Given the description of an element on the screen output the (x, y) to click on. 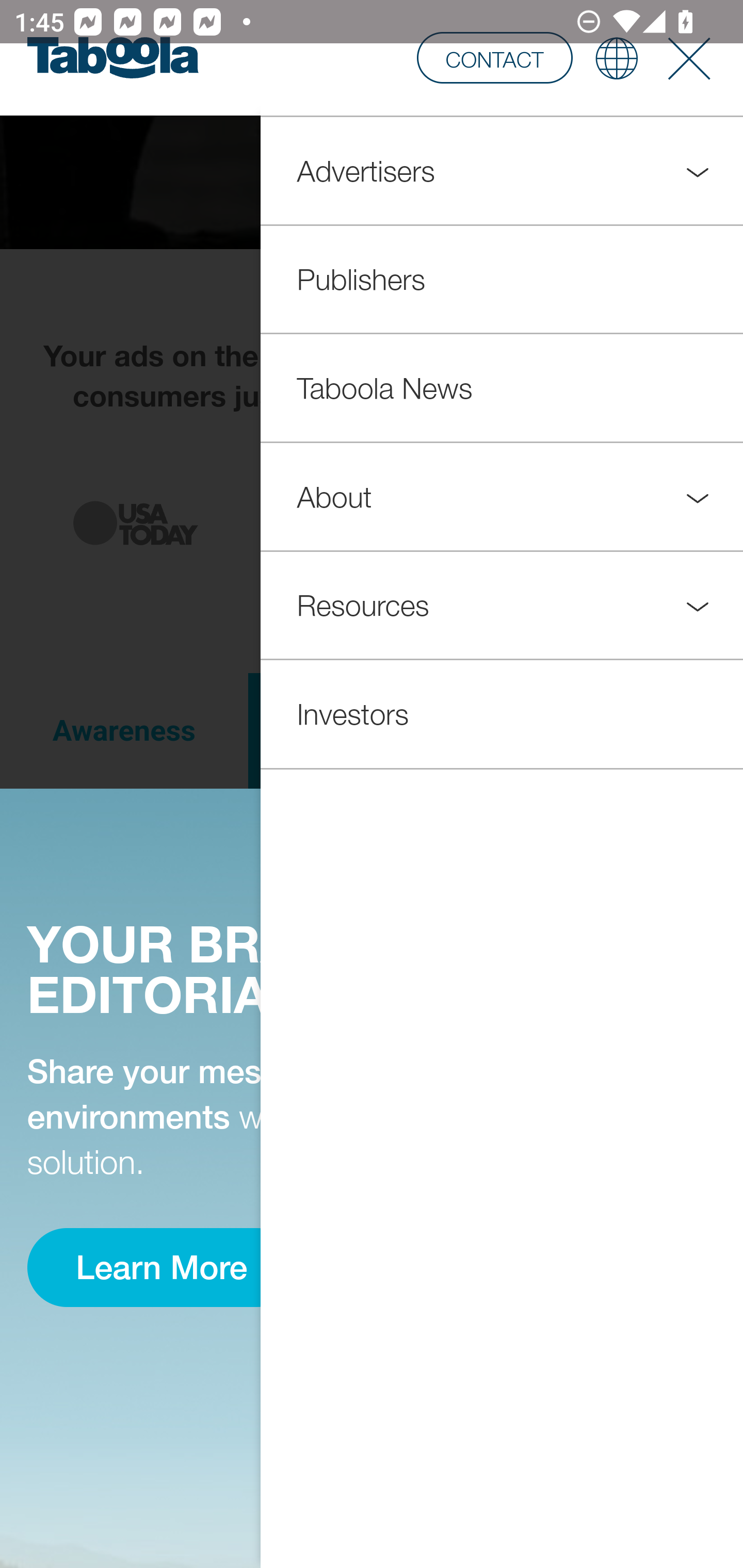
CONTACT (494, 56)
www.taboola (112, 57)
Advertisers (501, 171)
Publishers (501, 279)
Taboola News (501, 388)
About (501, 496)
Resources (501, 605)
Investors (501, 713)
